Given the description of an element on the screen output the (x, y) to click on. 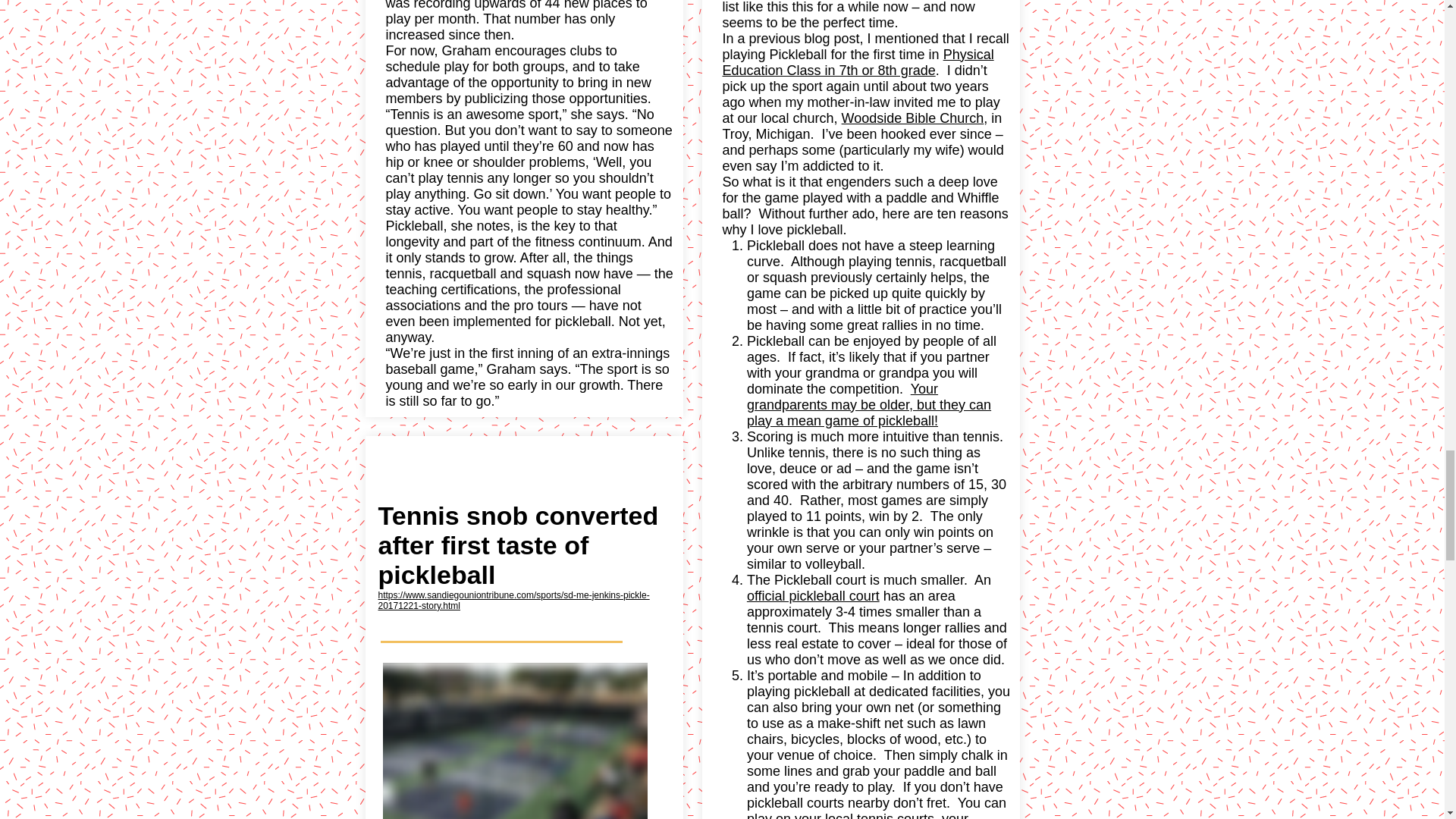
Woodside Bible Church (912, 118)
Physical Education Class in 7th or 8th grade (857, 61)
official pickleball court (812, 595)
